Given the description of an element on the screen output the (x, y) to click on. 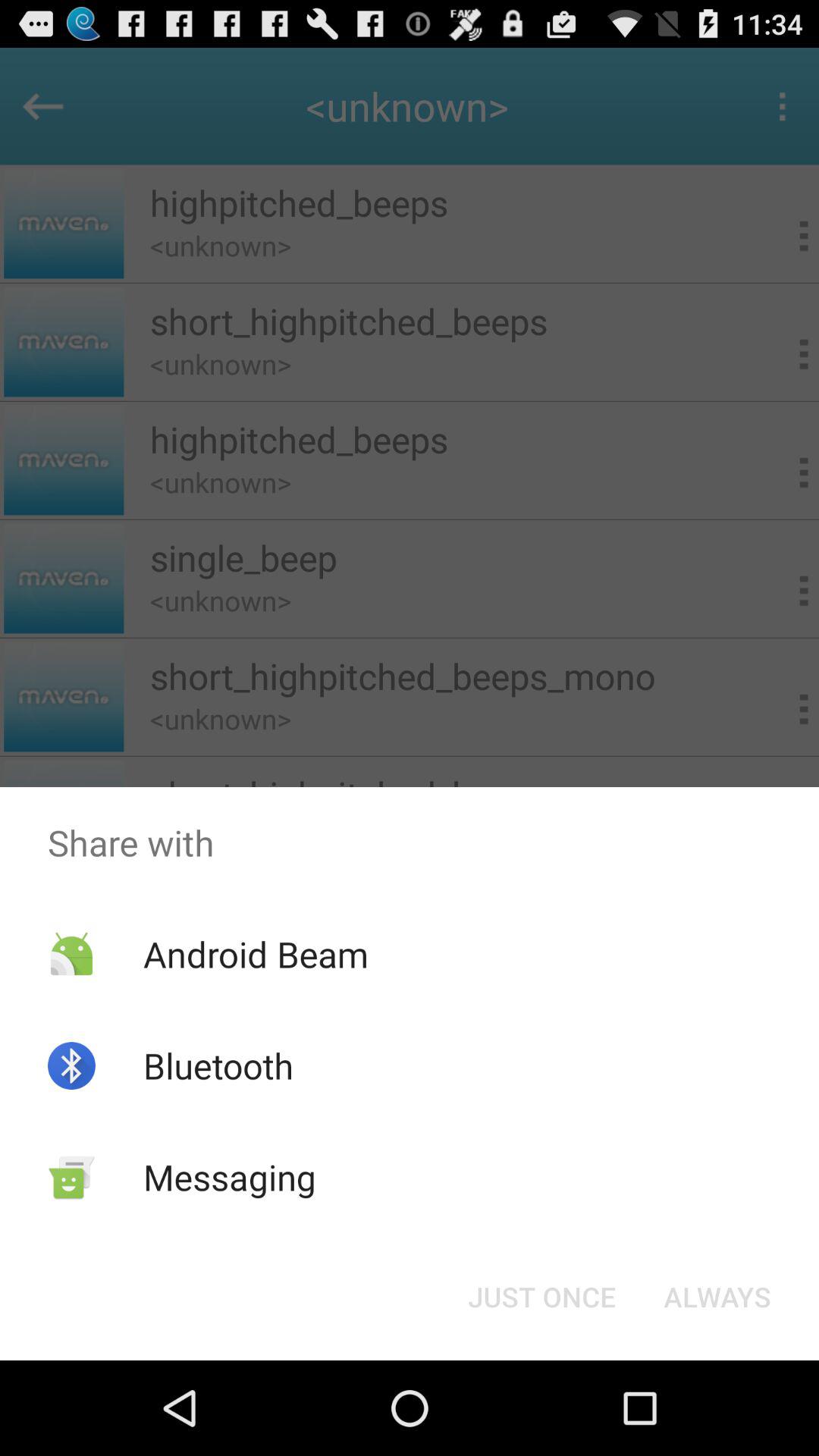
select button next to the just once icon (717, 1296)
